Given the description of an element on the screen output the (x, y) to click on. 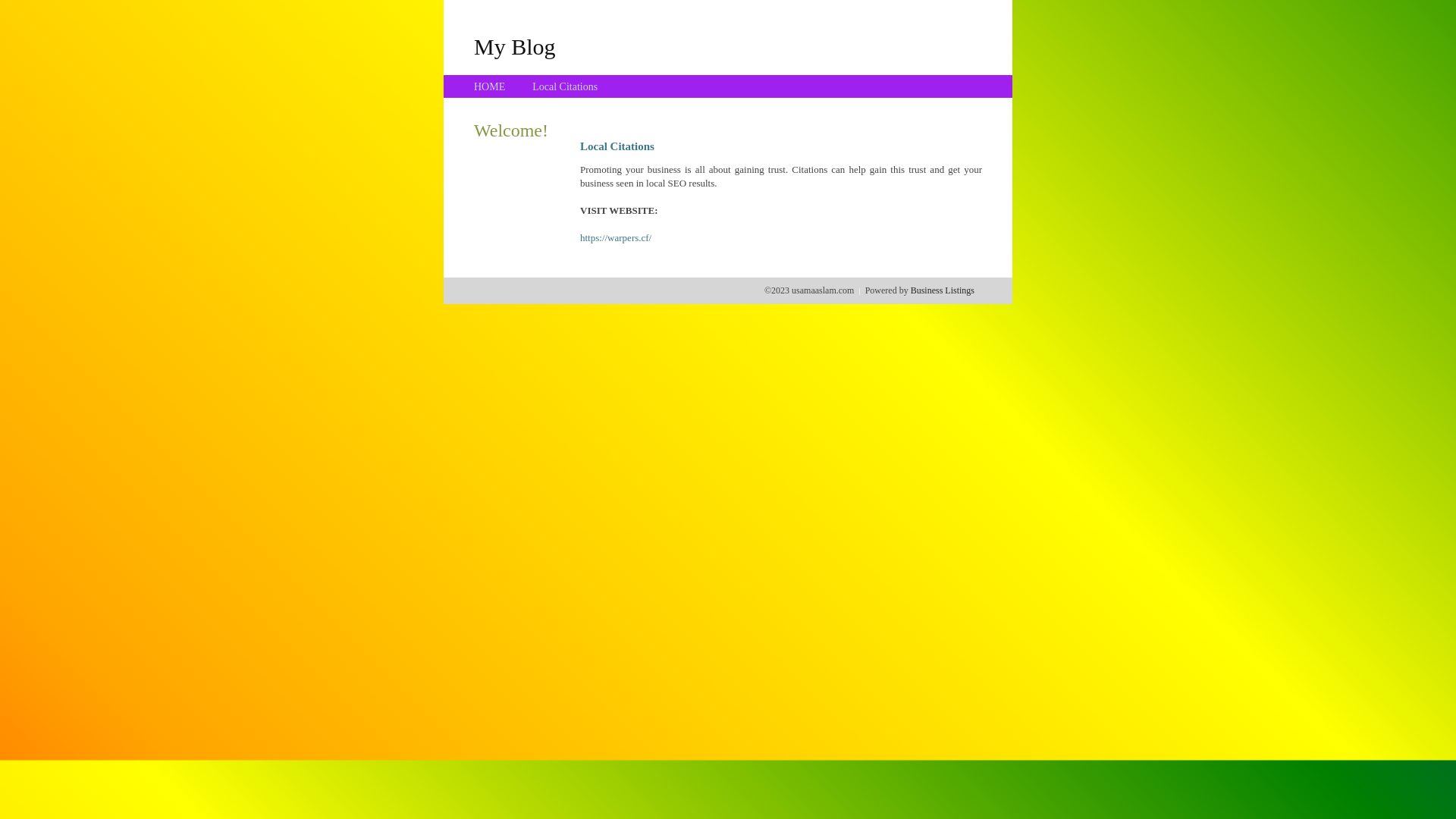
Local Citations Element type: text (564, 86)
Business Listings Element type: text (942, 290)
My Blog Element type: text (514, 46)
https://warpers.cf/ Element type: text (615, 237)
HOME Element type: text (489, 86)
